Given the description of an element on the screen output the (x, y) to click on. 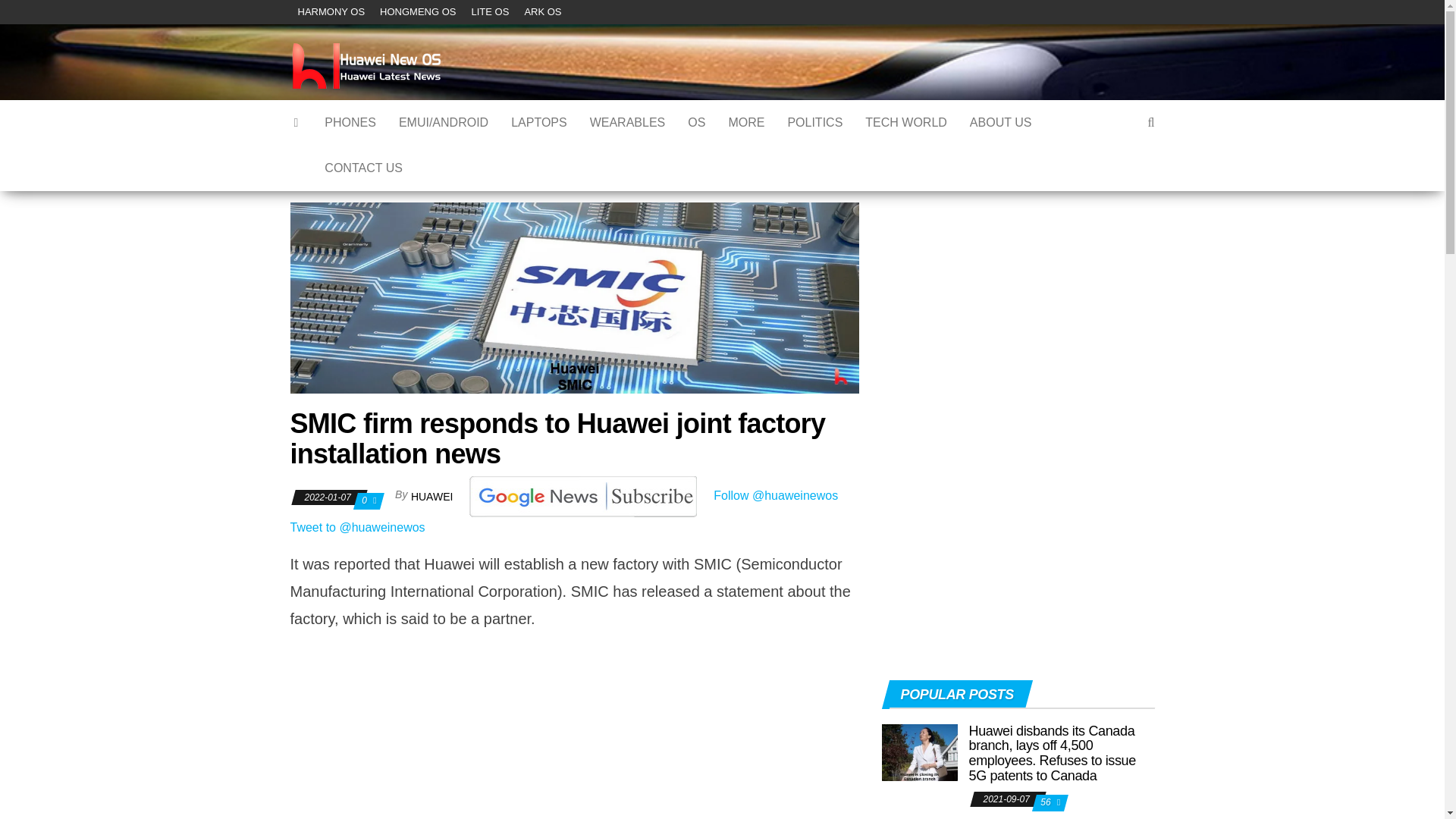
SMIC firm responds to Huawei joint factory installation news (574, 297)
Huawei Latest News, Huawei News, Huawei Update (296, 122)
HongMeng os (417, 12)
WEARABLES (627, 122)
MORE (746, 122)
Lite OS (490, 12)
HUAWEI (432, 496)
0 (365, 500)
Harmony OS (330, 12)
Phones (350, 122)
TECH WORLD (905, 122)
Ark OS (542, 12)
Contact Us (363, 167)
Politics (814, 122)
Wearables (627, 122)
